Given the description of an element on the screen output the (x, y) to click on. 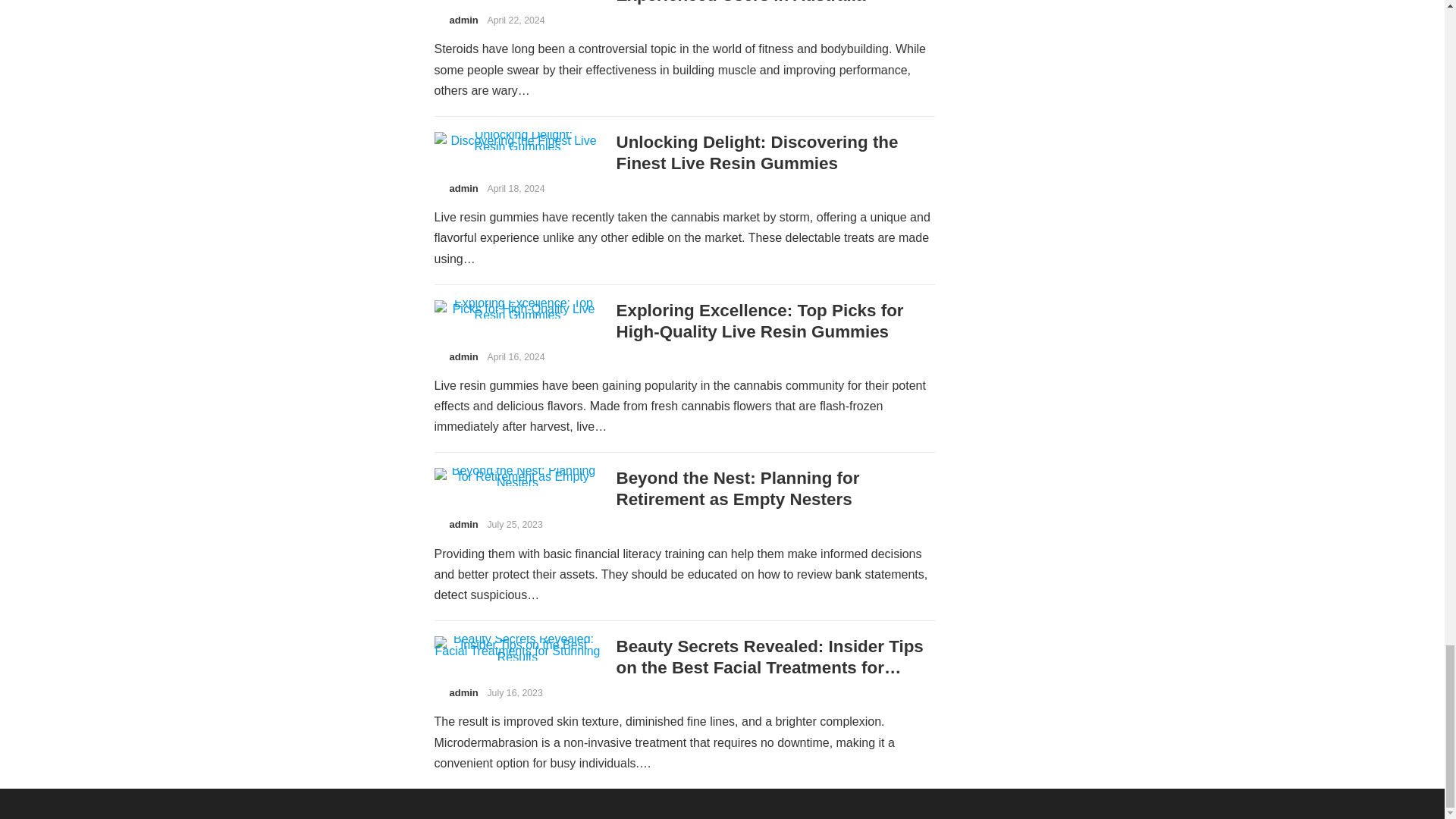
Posts by admin (462, 19)
Posts by admin (462, 188)
Posts by admin (462, 356)
Posts by admin (462, 692)
Posts by admin (462, 523)
